Given the description of an element on the screen output the (x, y) to click on. 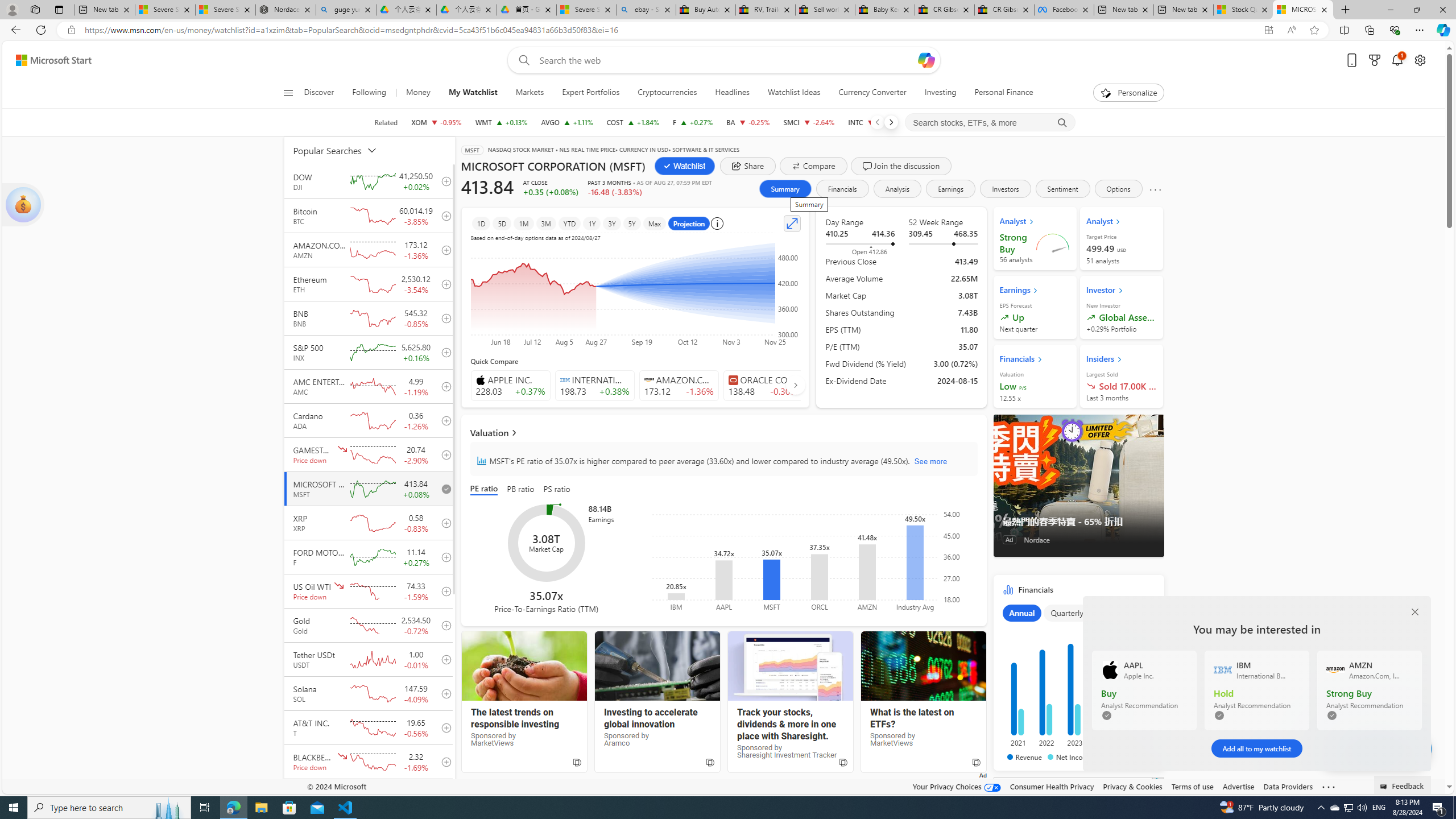
Class: feedback_link_icon-DS-EntryPoint1-1 (1384, 786)
Class: qc-adchoices-link top-right  (1157, 781)
Markets (529, 92)
Workspaces (34, 9)
Back (13, 29)
App bar (728, 29)
Data Providers (1288, 785)
Max (654, 223)
Your Privacy Choices (956, 785)
Nordace - Summer Adventures 2024 (285, 9)
Summary (784, 188)
YTD (568, 223)
Consumer Health Privacy (1051, 786)
